Given the description of an element on the screen output the (x, y) to click on. 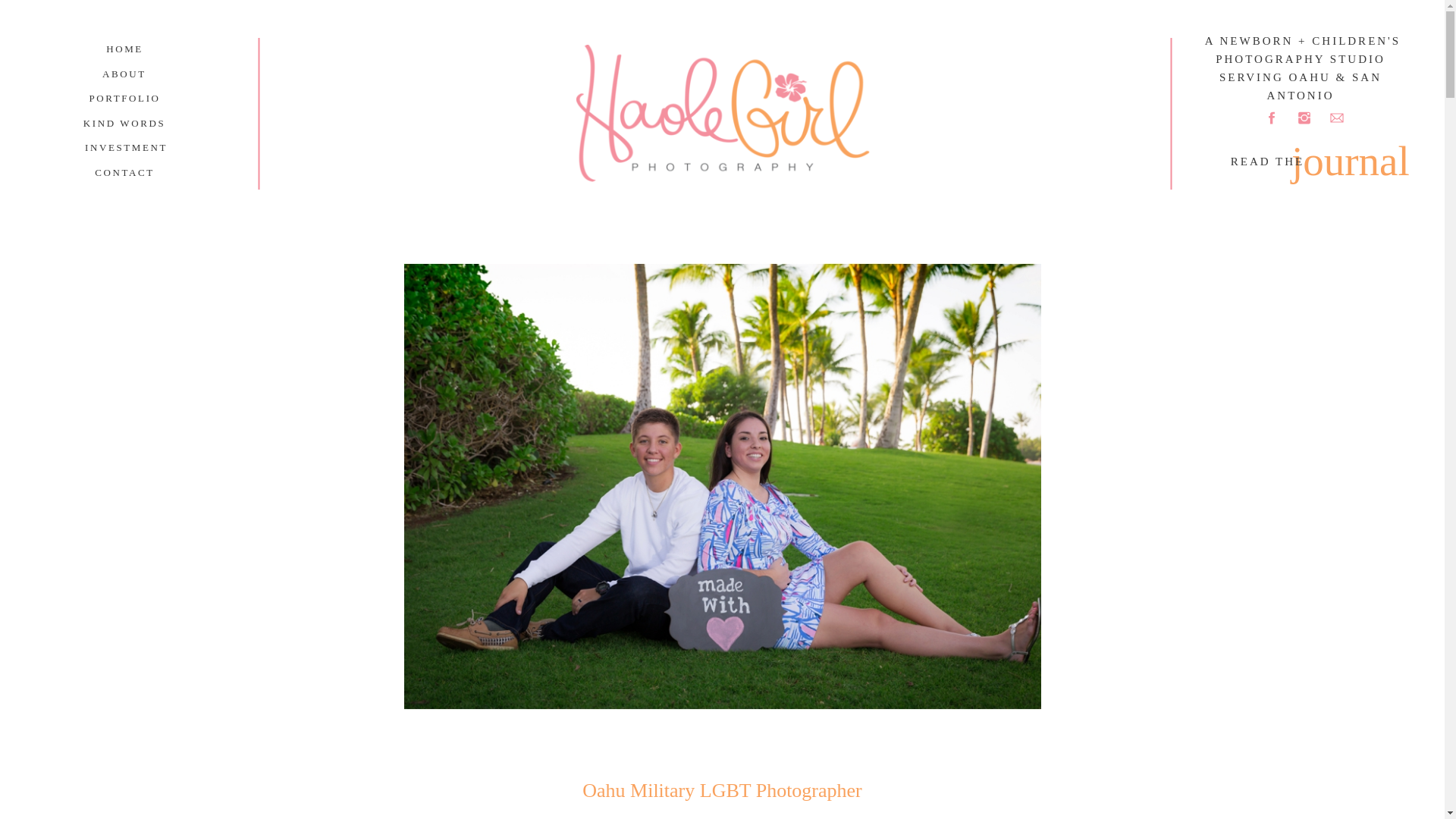
INVESTMENT (123, 147)
HOME (124, 48)
KIND WORDS (124, 123)
journal (1341, 151)
CONTACT (124, 172)
ABOUT (124, 73)
PORTFOLIO (124, 97)
Oahu Military LGBT Photographer (721, 790)
